Given the description of an element on the screen output the (x, y) to click on. 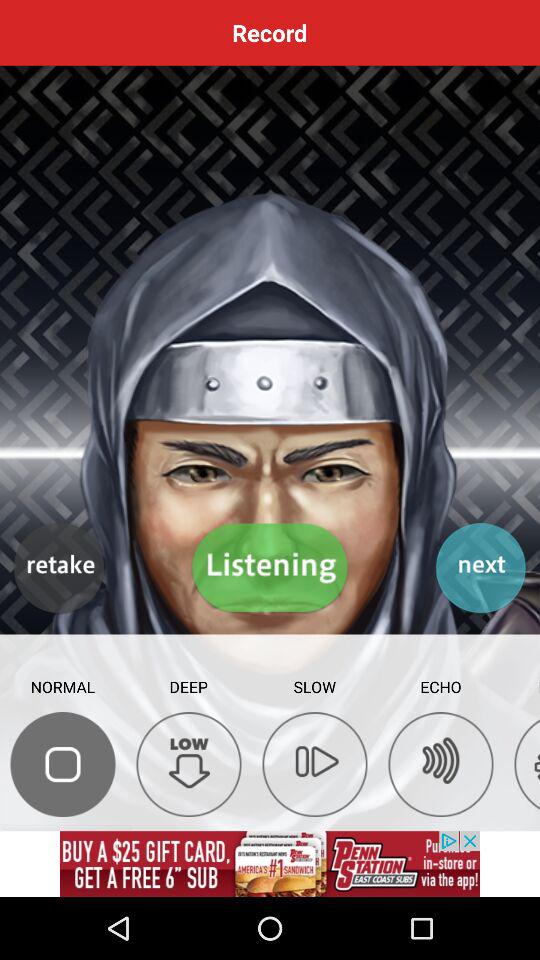
go to next (480, 568)
